Given the description of an element on the screen output the (x, y) to click on. 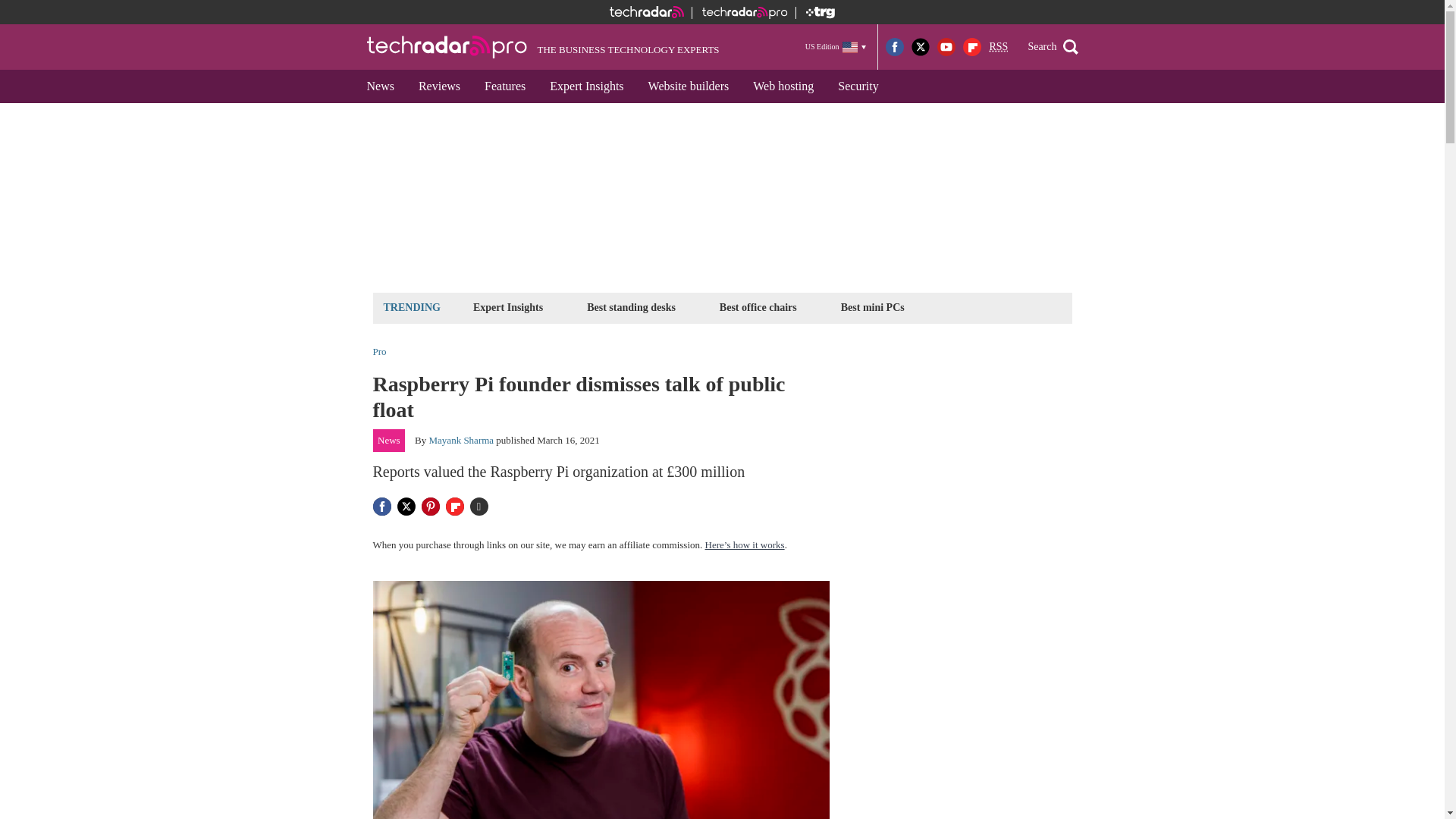
Security (857, 86)
Really Simple Syndication (997, 46)
Features (504, 86)
Best standing desks (630, 307)
Web hosting (783, 86)
News (380, 86)
THE BUSINESS TECHNOLOGY EXPERTS (542, 46)
Website builders (688, 86)
Expert Insights (507, 307)
Reviews (438, 86)
